Given the description of an element on the screen output the (x, y) to click on. 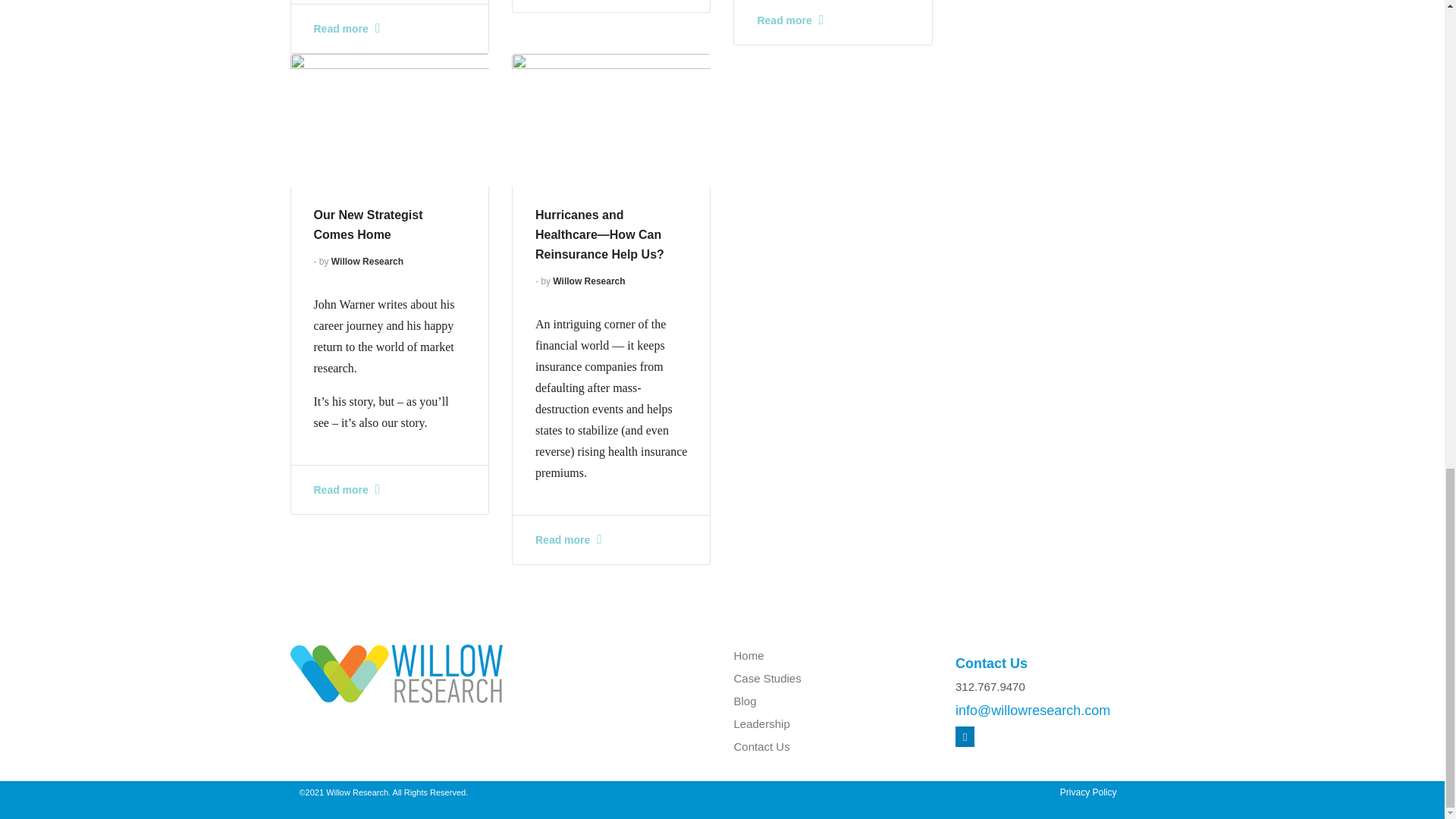
Read more (568, 539)
Read more (347, 28)
Willow Research (588, 281)
Read more (790, 20)
Read more (347, 490)
Our New Strategist Comes Home (368, 224)
Willow Research (367, 261)
